Given the description of an element on the screen output the (x, y) to click on. 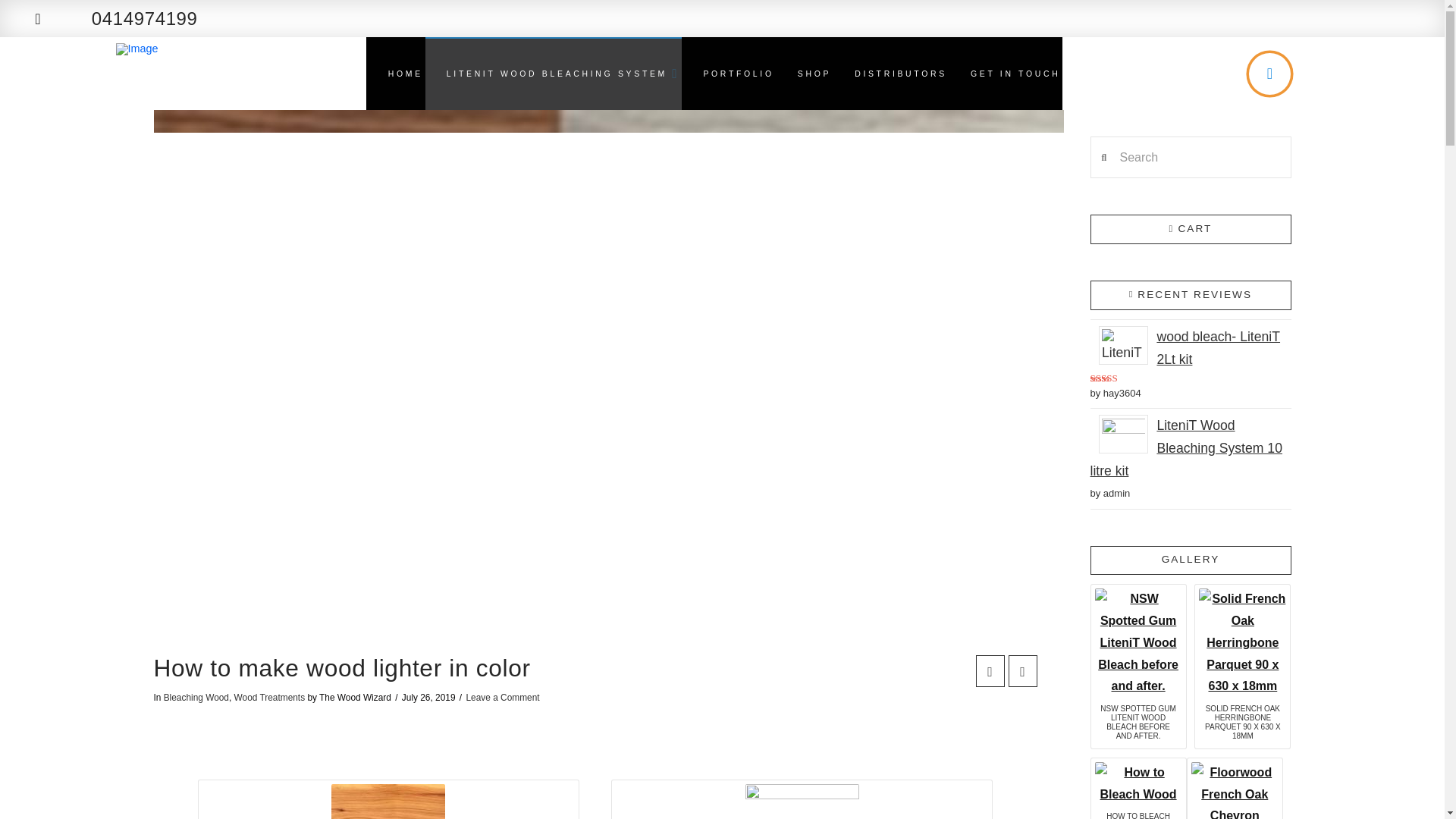
LiteniT Wood Bleaching System 10 litre kit (1190, 448)
Wood Treatments (269, 697)
DISTRIBUTORS (890, 72)
LITENIT WOOD BLEACHING SYSTEM (553, 72)
wood bleach- LiteniT 2Lt kit (1190, 348)
Leave a Comment (501, 697)
PORTFOLIO (728, 72)
Bleaching Wood (195, 697)
GET IN TOUCH (1005, 72)
